Given the description of an element on the screen output the (x, y) to click on. 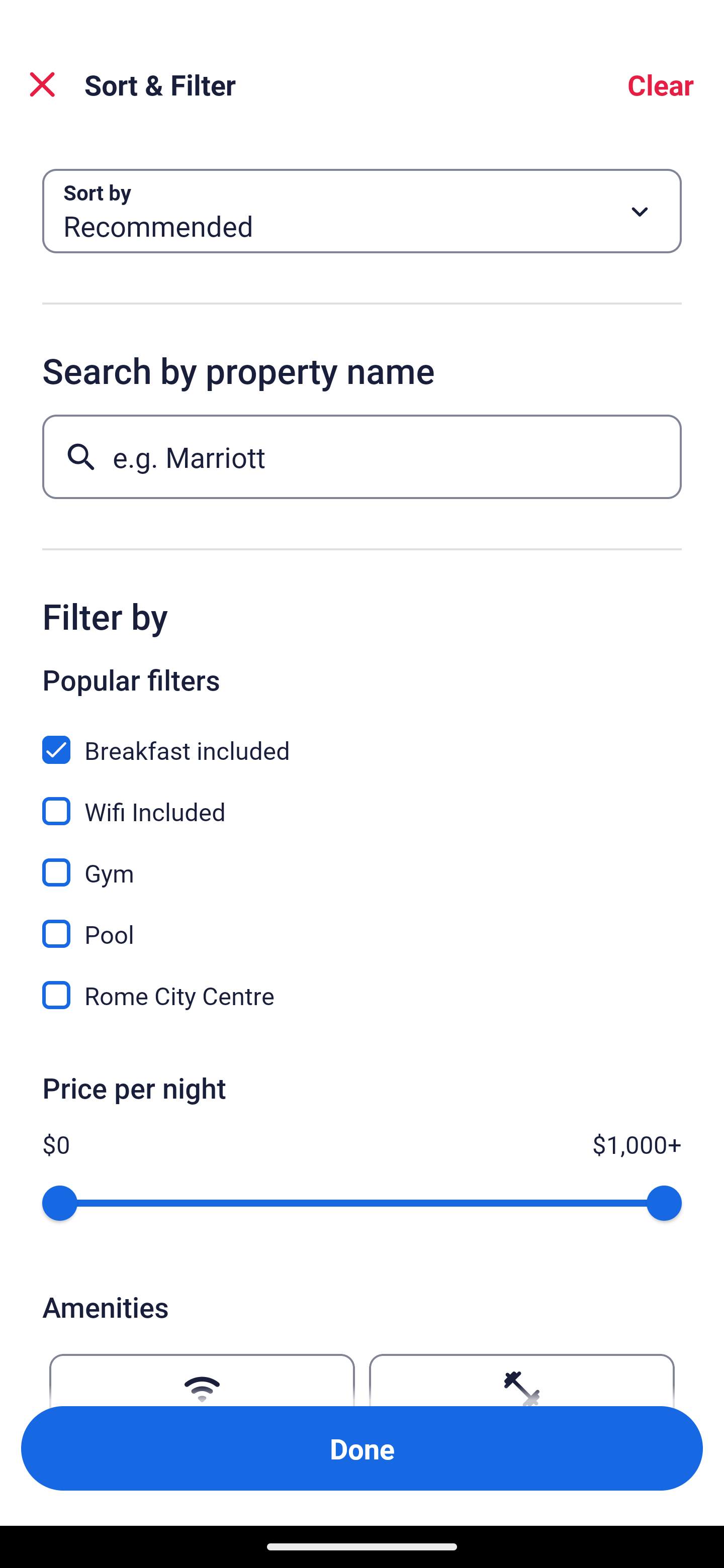
Close Sort and Filter (42, 84)
Clear (660, 84)
Sort by Button Recommended (361, 211)
e.g. Marriott Button (361, 455)
Breakfast included, Breakfast included (361, 738)
Wifi Included, Wifi Included (361, 800)
Gym, Gym (361, 861)
Pool, Pool (361, 922)
Rome City Centre, Rome City Centre (361, 995)
Apply and close Sort and Filter Done (361, 1448)
